Given the description of an element on the screen output the (x, y) to click on. 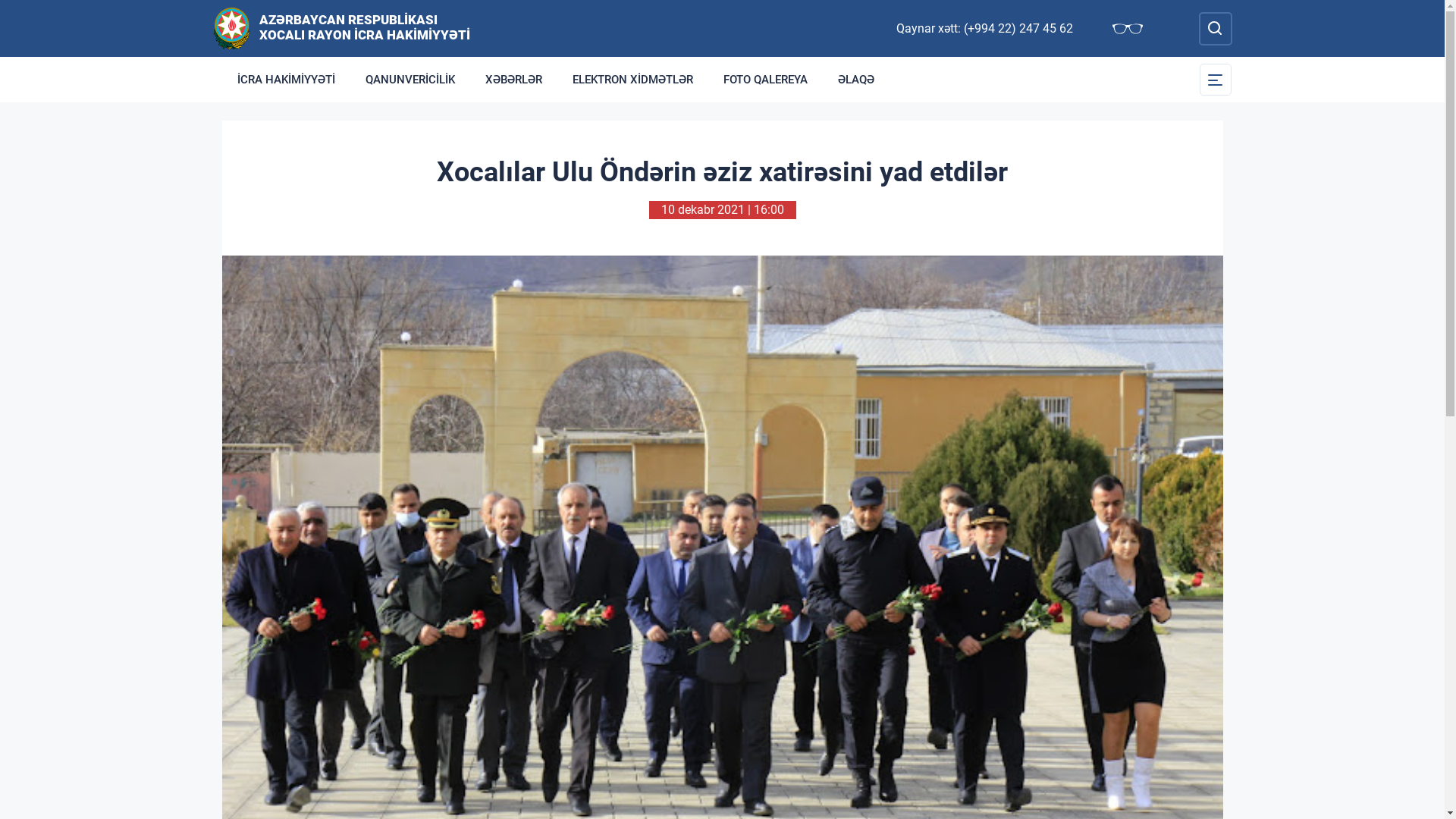
FOTO QALEREYA Element type: text (765, 79)
QANUNVERICILIK Element type: text (410, 79)
